Given the description of an element on the screen output the (x, y) to click on. 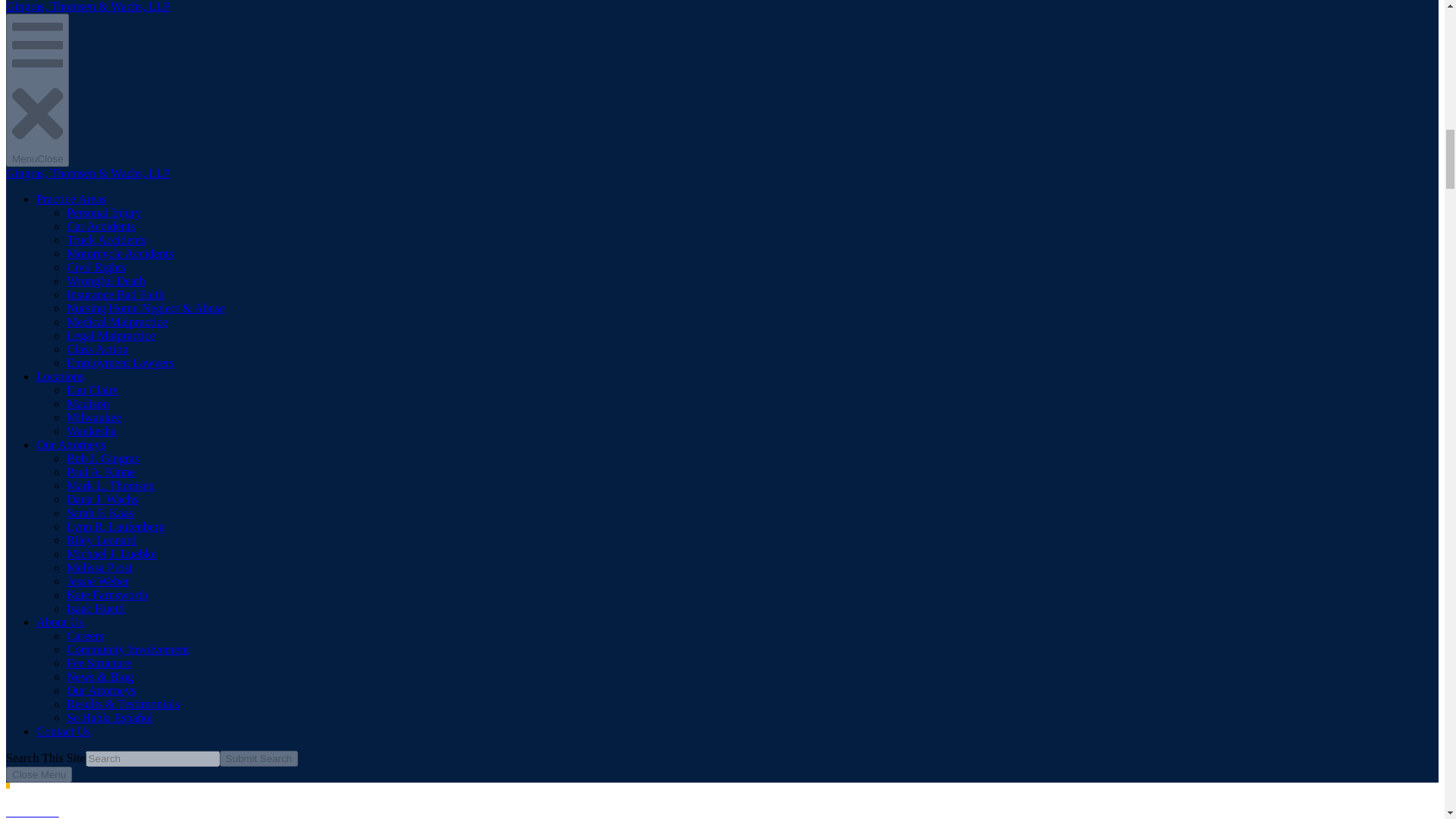
American Board of Trial Advocates Badge (149, 188)
WisJustice (149, 422)
BestLawyers (149, 358)
SuperLawyers (149, 591)
SuperLawyers (149, 539)
Abota (149, 241)
Best Lawyers - Firm Logo (149, 305)
WisJustice (149, 474)
